Given the description of an element on the screen output the (x, y) to click on. 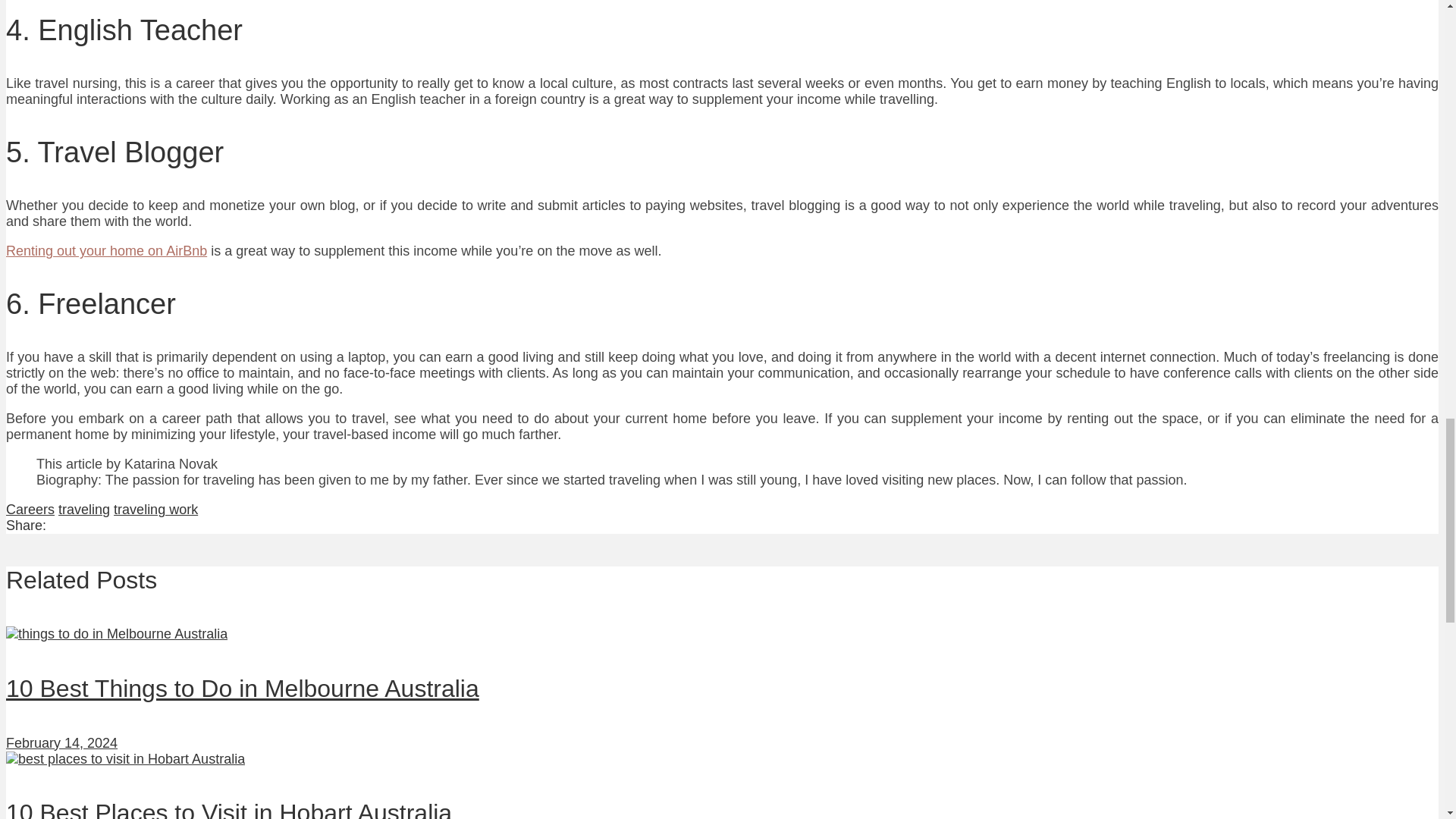
Permanent (242, 687)
Permanent (124, 758)
Permanent (228, 809)
Permanent (116, 633)
